Given the description of an element on the screen output the (x, y) to click on. 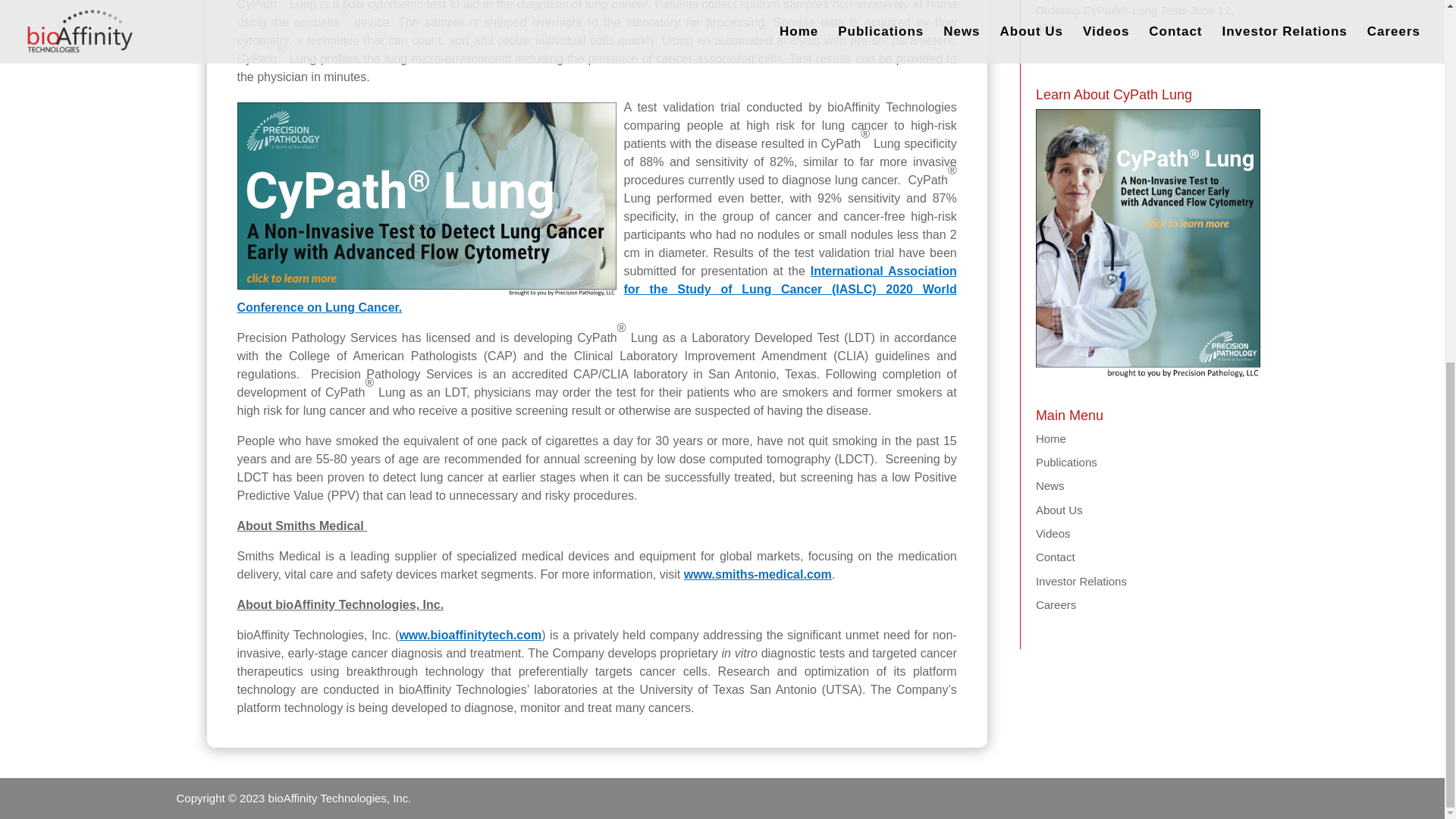
Home (1050, 438)
Publications (1066, 461)
News (1049, 485)
www.bioaffinitytech.com (469, 634)
www.smiths-medical.com (757, 574)
